Given the description of an element on the screen output the (x, y) to click on. 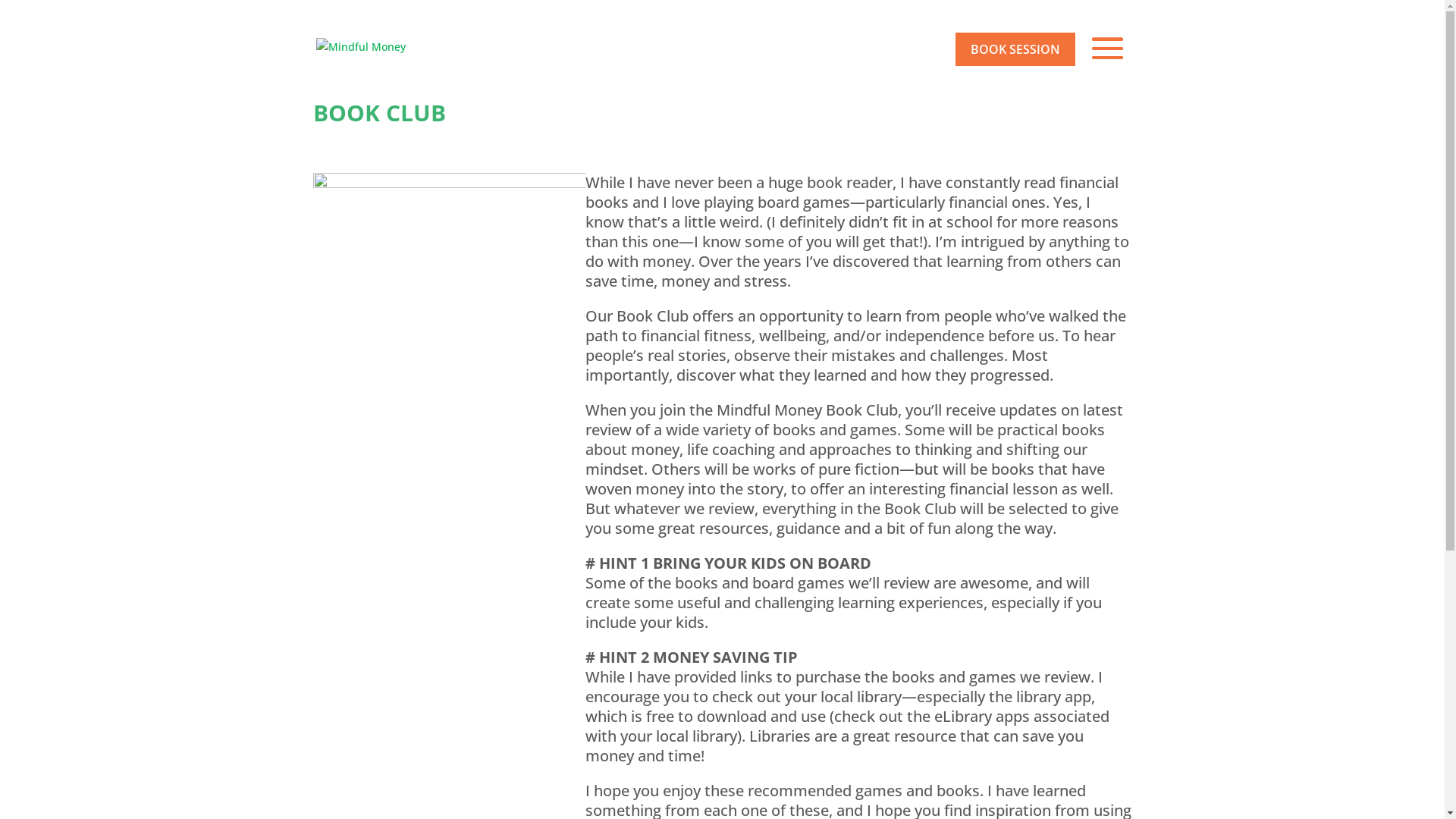
BOOK SESSION Element type: text (1015, 48)
